Given the description of an element on the screen output the (x, y) to click on. 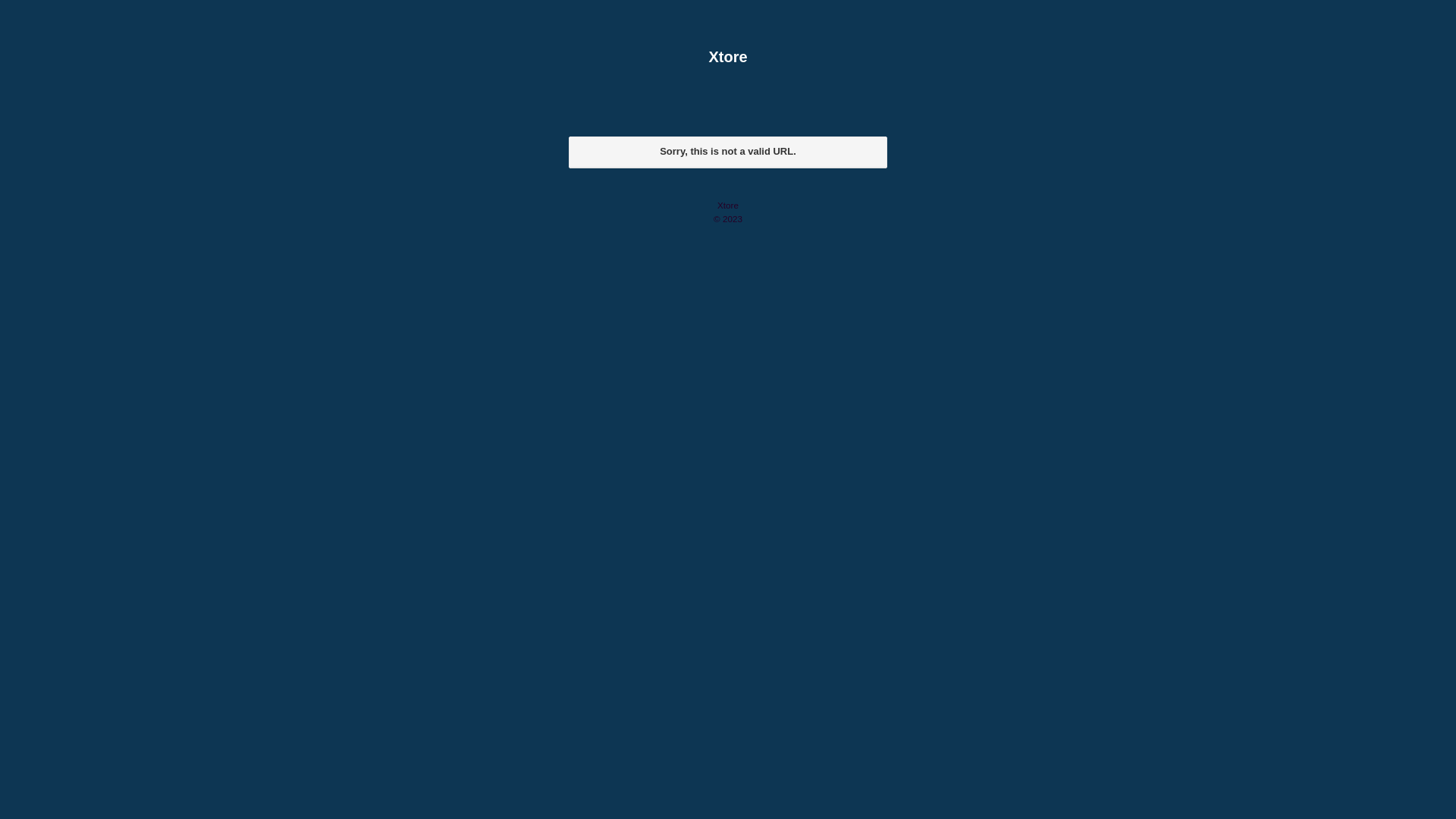
Xtore Element type: text (727, 56)
